Given the description of an element on the screen output the (x, y) to click on. 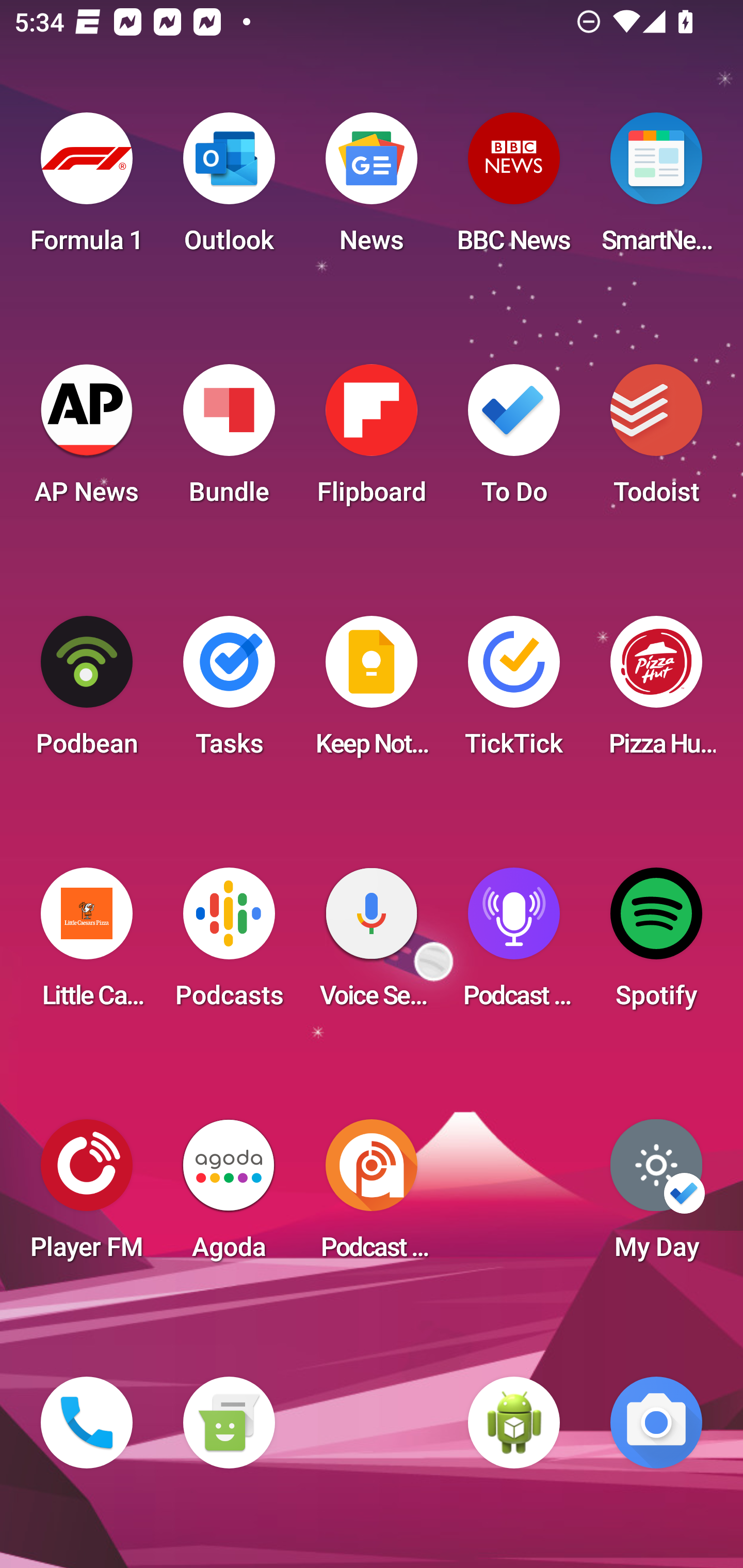
Formula 1 (86, 188)
Outlook (228, 188)
News (371, 188)
BBC News (513, 188)
SmartNews (656, 188)
AP News (86, 440)
Bundle (228, 440)
Flipboard (371, 440)
To Do (513, 440)
Todoist (656, 440)
Podbean (86, 692)
Tasks (228, 692)
Keep Notes (371, 692)
TickTick (513, 692)
Pizza Hut HK & Macau (656, 692)
Little Caesars Pizza (86, 943)
Podcasts (228, 943)
Voice Search (371, 943)
Podcast Player (513, 943)
Spotify (656, 943)
Player FM (86, 1195)
Agoda (228, 1195)
Podcast Addict (371, 1195)
My Day (656, 1195)
Phone (86, 1422)
Messaging (228, 1422)
WebView Browser Tester (513, 1422)
Camera (656, 1422)
